Given the description of an element on the screen output the (x, y) to click on. 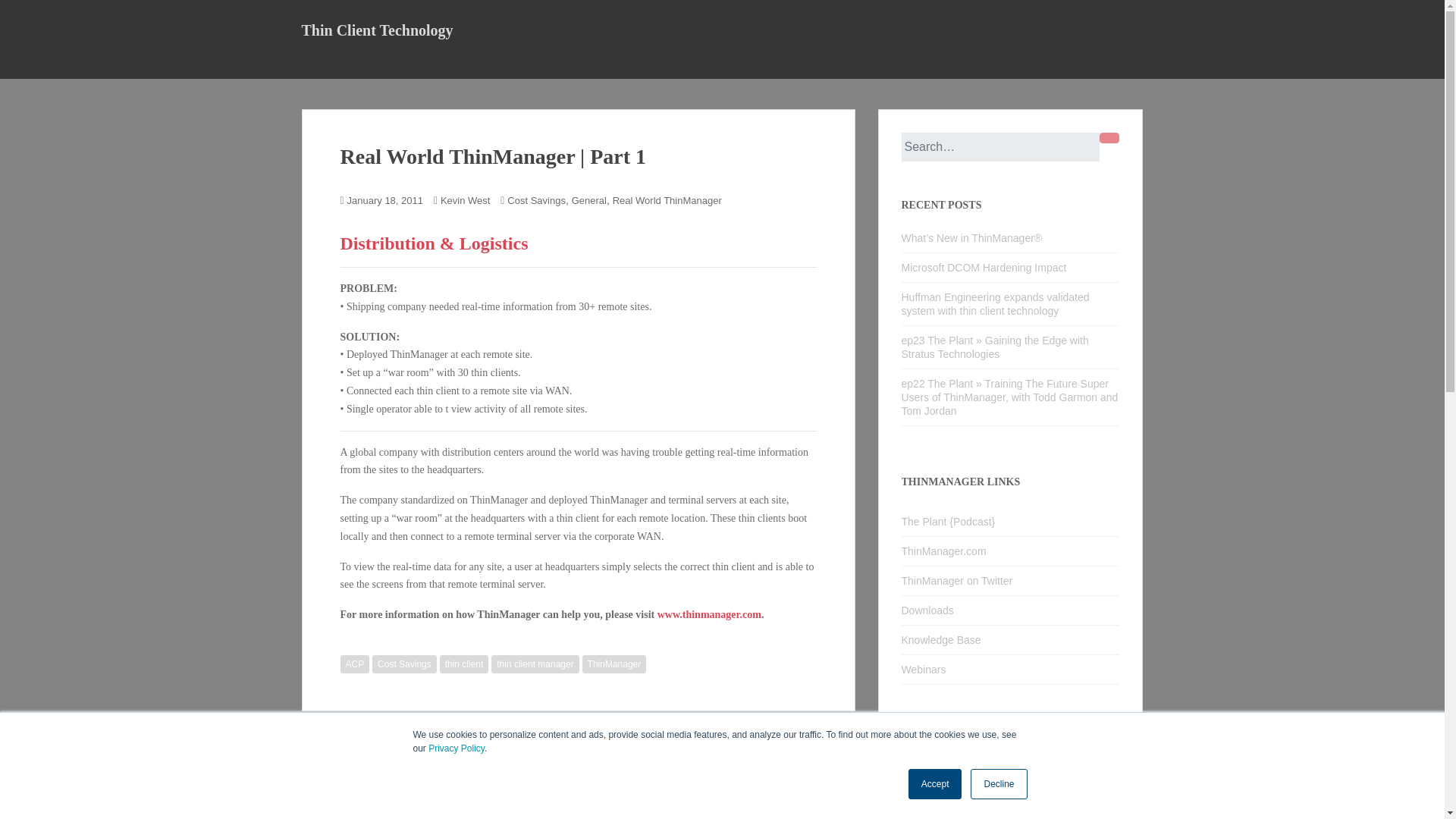
thin client (464, 664)
Downloads (1010, 610)
Real World ThinManager (667, 200)
Search (1109, 137)
App Story (935, 803)
TOGGLE NAVIGATION (311, 63)
www.thinmanager.com (709, 614)
General (589, 200)
Cost Savings (536, 200)
January 18, 2011 (385, 200)
ACP Announces Version 4.1 (372, 747)
Decline (998, 784)
Microsoft DCOM Hardening Impact (983, 267)
Kevin West (465, 200)
Thin Client Technology (376, 29)
